Given the description of an element on the screen output the (x, y) to click on. 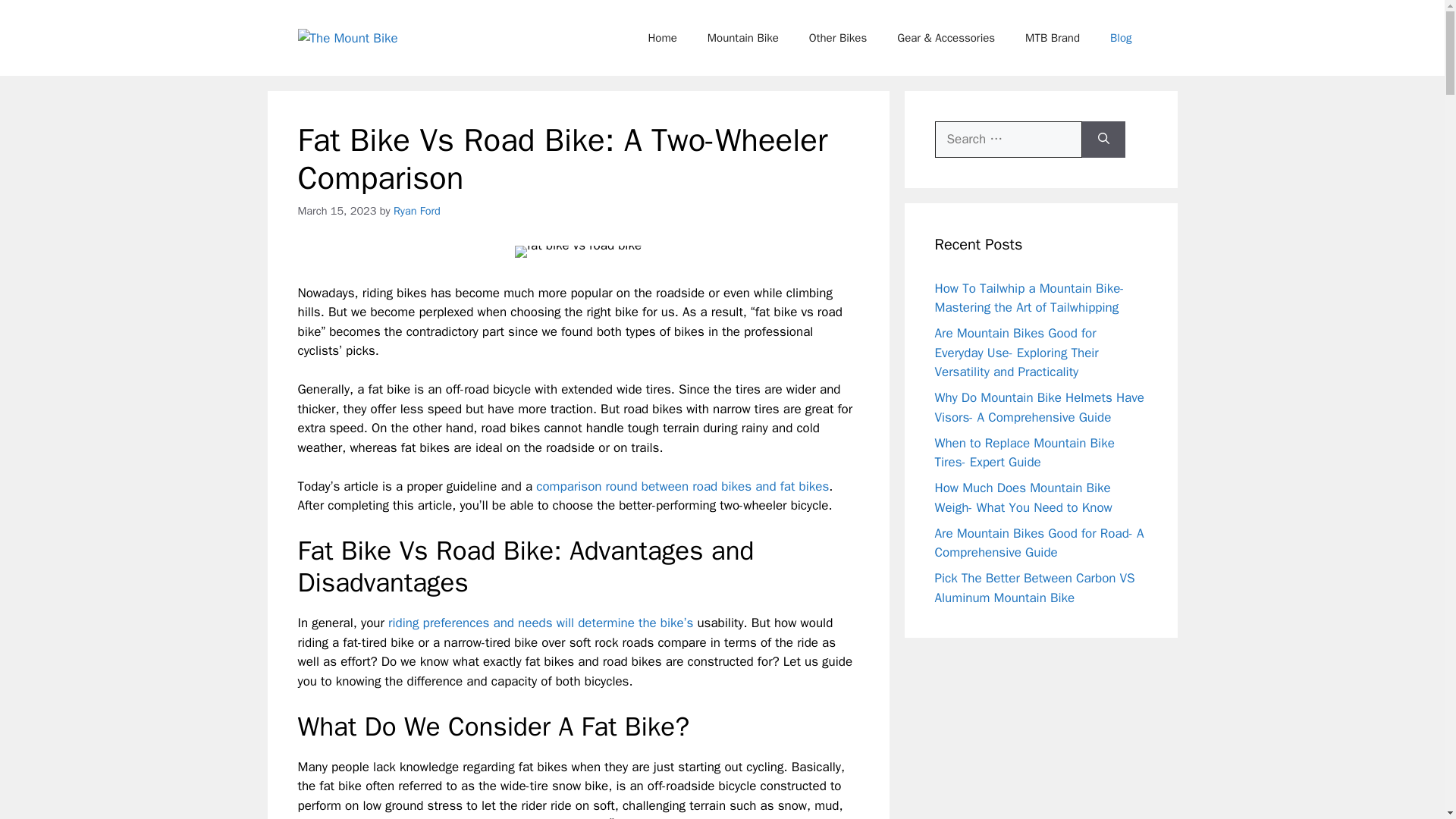
Are Mountain Bikes Good for Road- A Comprehensive Guide (1038, 542)
Pick The Better Between Carbon VS Aluminum Mountain Bike (1034, 588)
How Much Does Mountain Bike Weigh- What You Need to Know (1023, 497)
Other Bikes (837, 37)
Search for: (1007, 139)
Ryan Ford (417, 210)
When to Replace Mountain Bike Tires- Expert Guide (1023, 452)
MTB Brand (1052, 37)
